Given the description of an element on the screen output the (x, y) to click on. 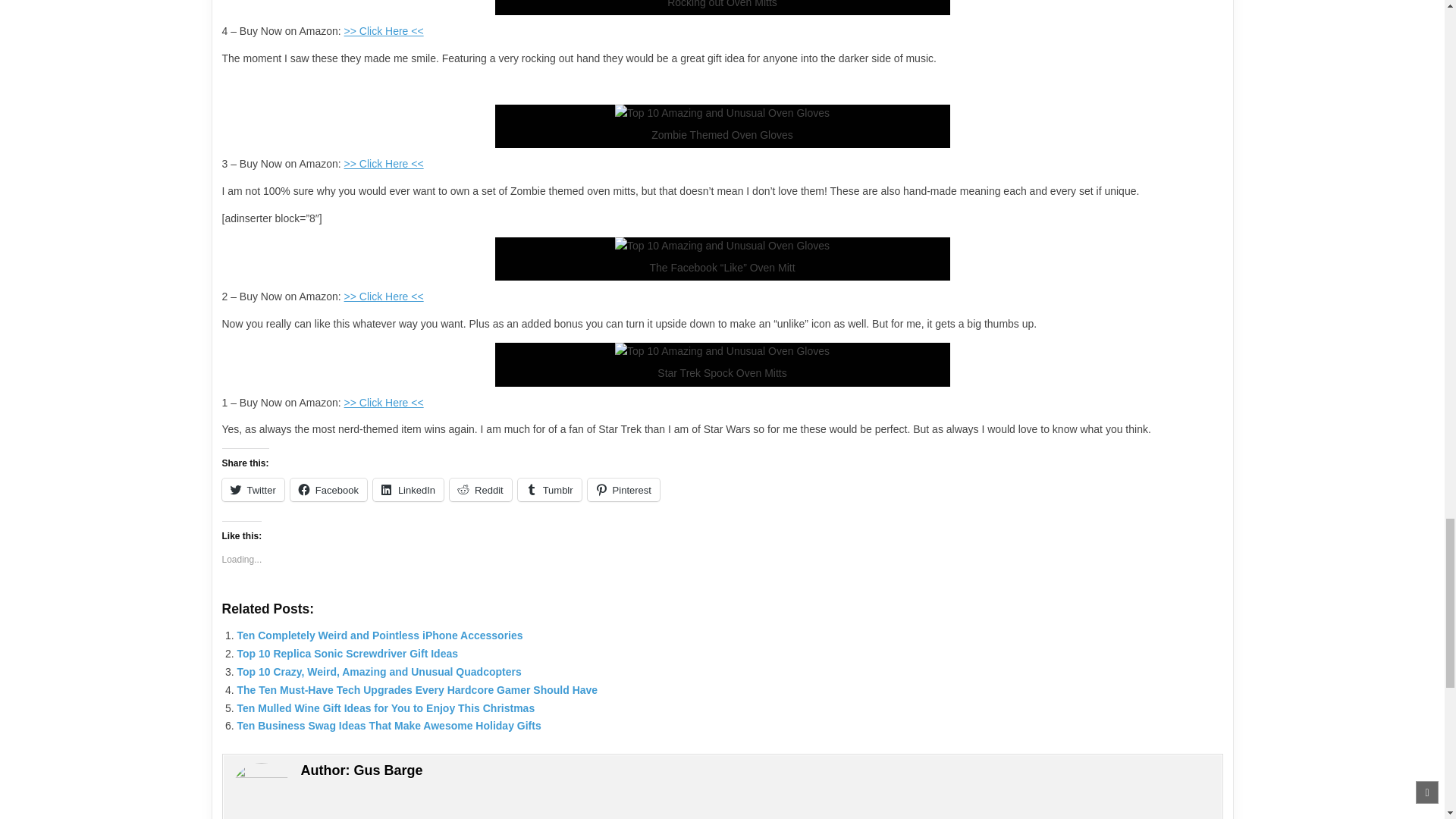
Pinterest (623, 489)
Top 10 Crazy, Weird, Amazing and Unusual Quadcopters (378, 671)
Reddit (480, 489)
LinkedIn (408, 489)
Tumblr (549, 489)
Facebook (327, 489)
Twitter (252, 489)
Ten Completely Weird and Pointless iPhone Accessories (378, 635)
Top 10 Replica Sonic Screwdriver Gift Ideas (346, 653)
Click to share on Twitter (252, 489)
